Given the description of an element on the screen output the (x, y) to click on. 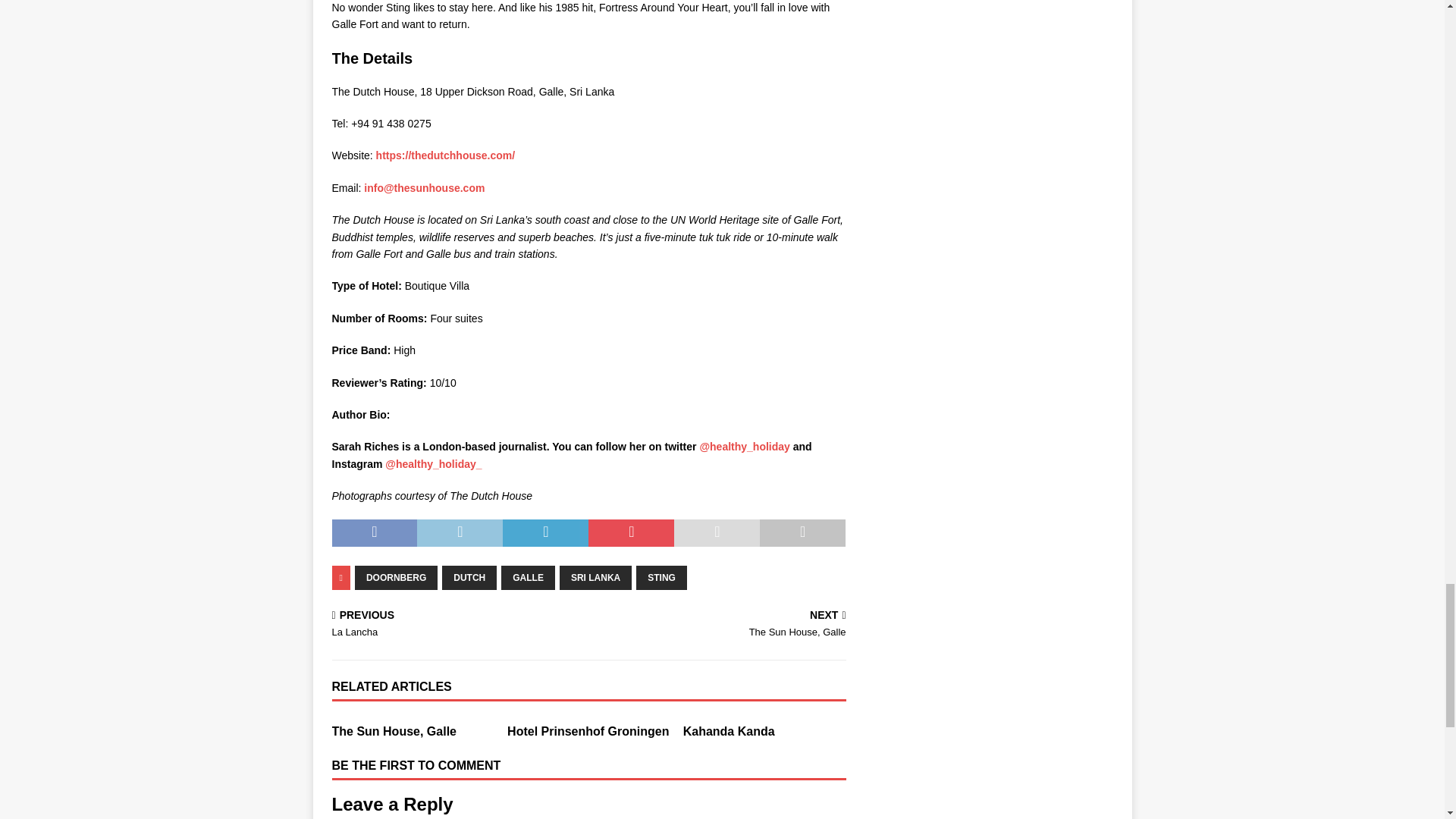
The Sun House, Galle (394, 730)
